Given the description of an element on the screen output the (x, y) to click on. 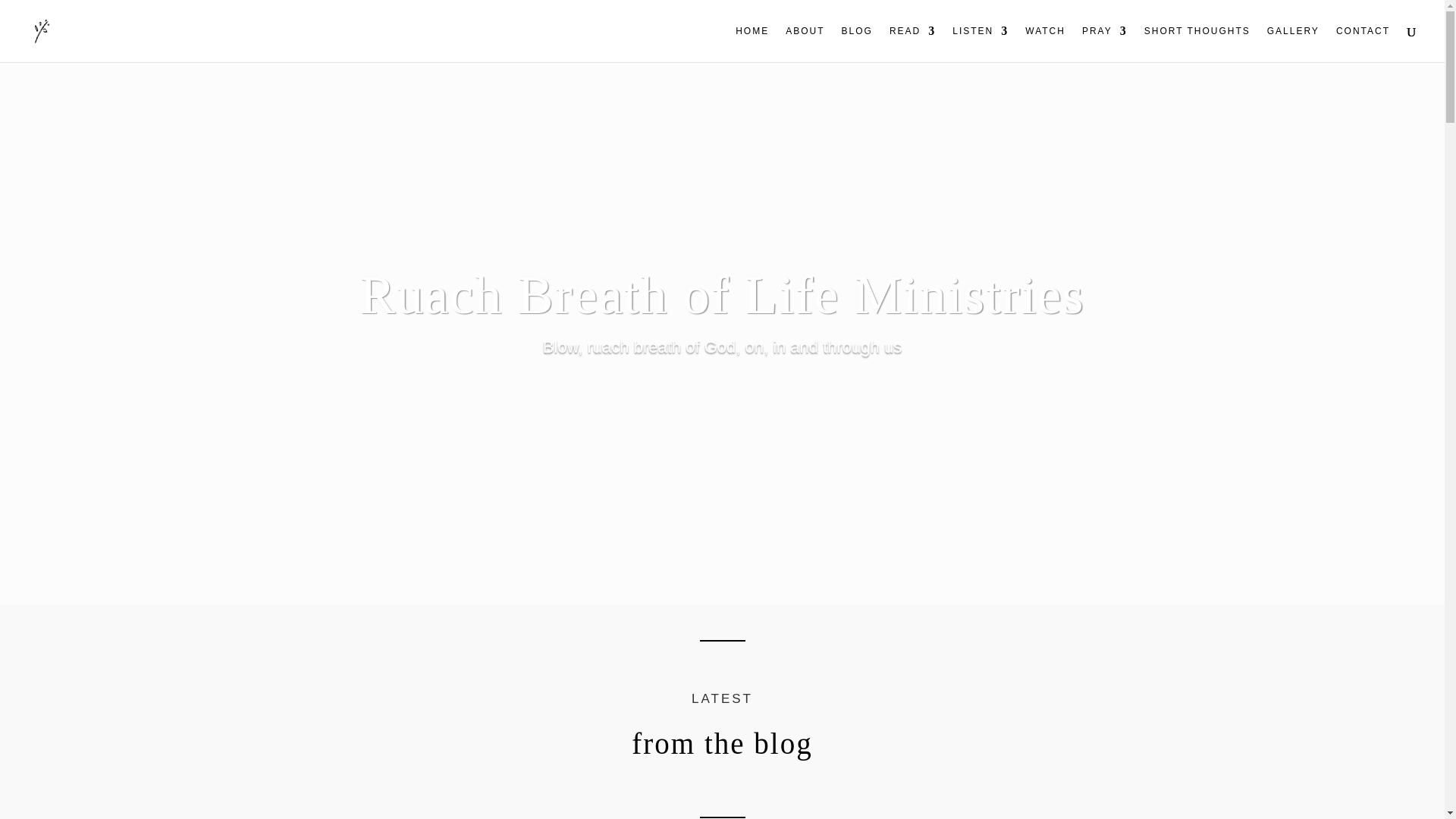
SHORT THOUGHTS (1197, 43)
WATCH (1045, 43)
Ruach Breath of Life Ministries (721, 295)
PRAY (1103, 43)
ABOUT (805, 43)
GALLERY (1292, 43)
LISTEN (980, 43)
HOME (751, 43)
CONTACT (1363, 43)
READ (912, 43)
